Given the description of an element on the screen output the (x, y) to click on. 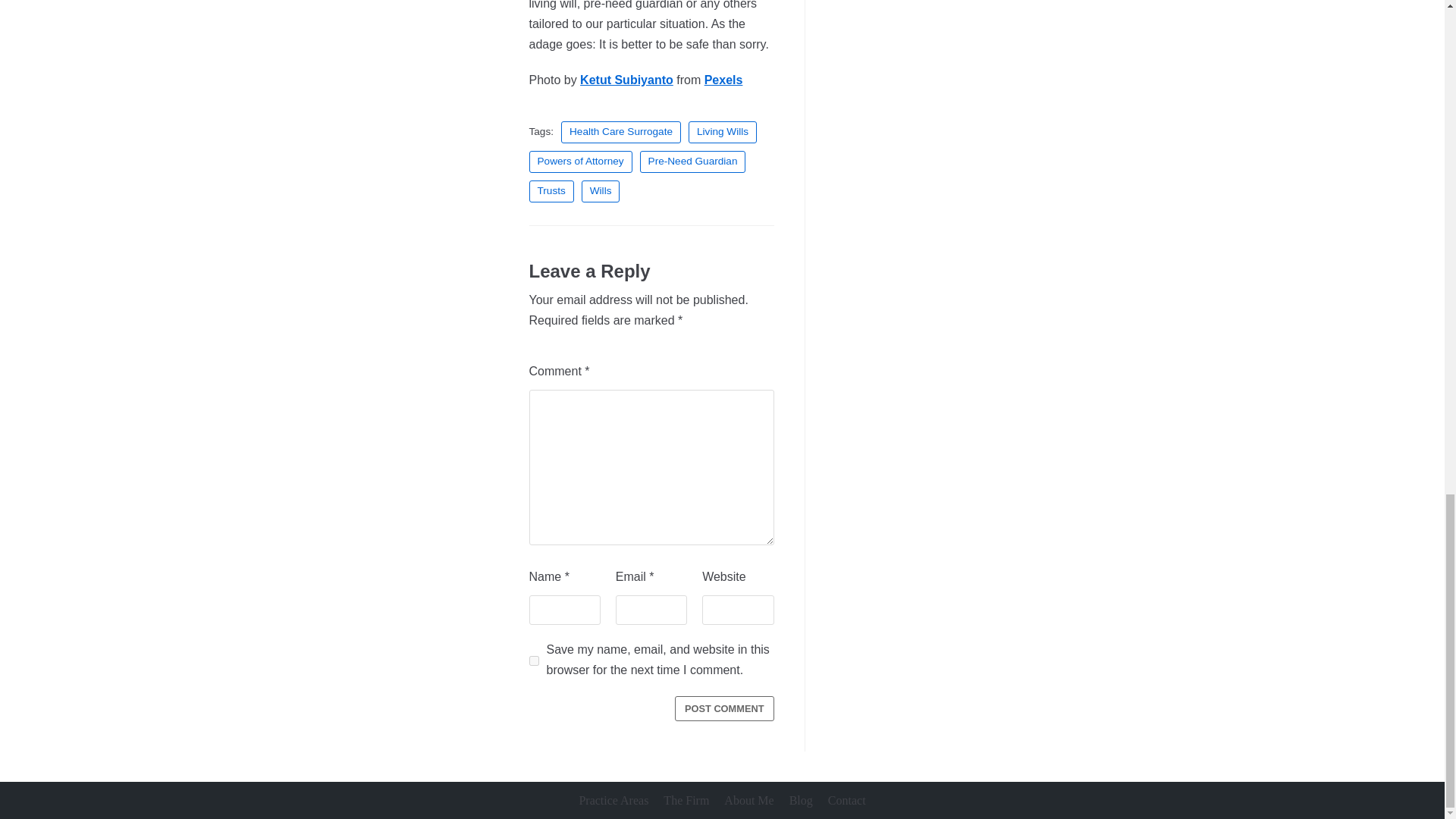
Health Care Surrogate (620, 132)
yes (533, 660)
Trusts (551, 191)
Post Comment (724, 708)
About Me (748, 800)
Trusts (551, 191)
Contact (847, 800)
Wills (600, 191)
Post Comment (724, 708)
Living Wills (722, 132)
